Given the description of an element on the screen output the (x, y) to click on. 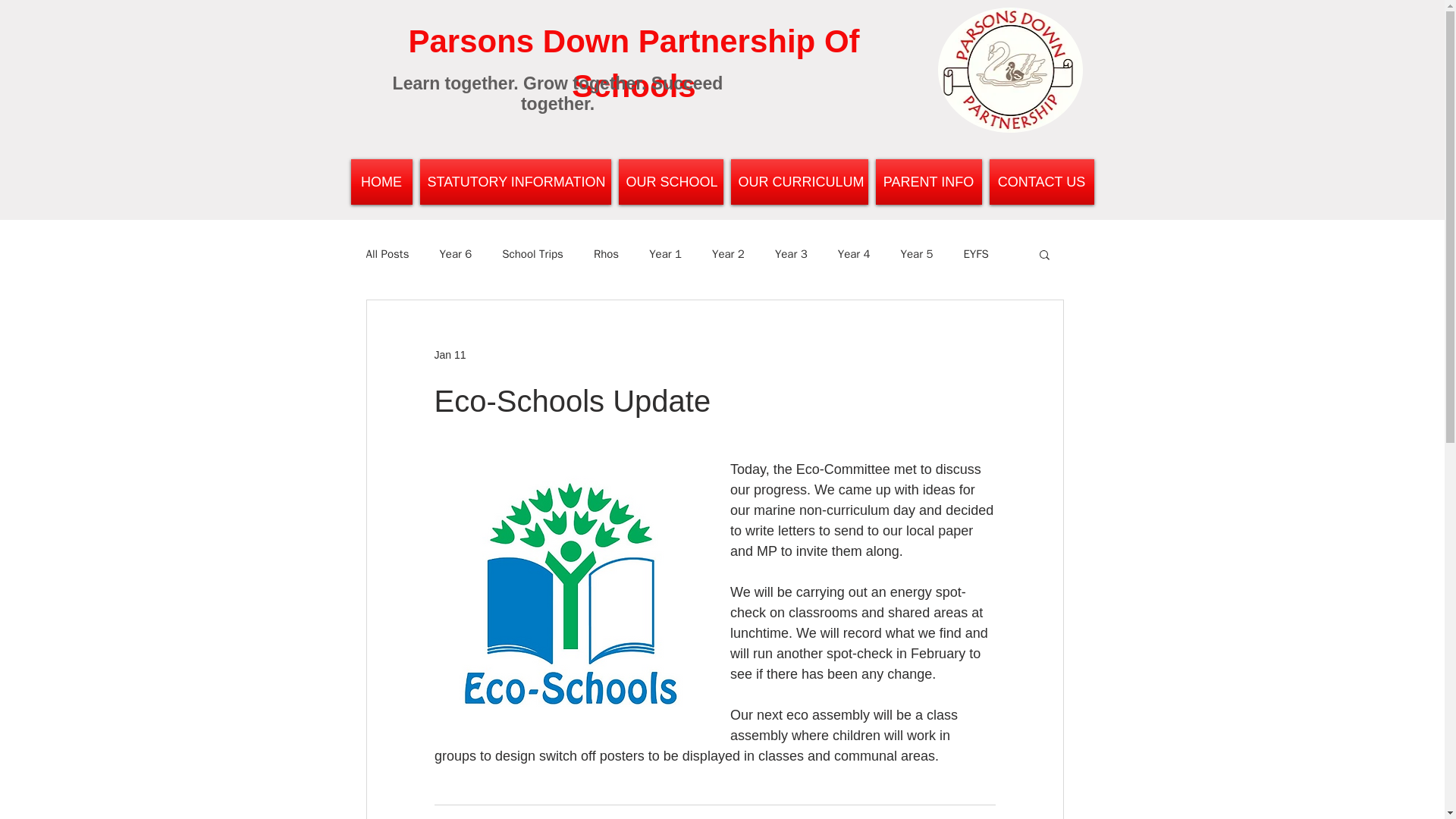
HOME (382, 181)
Parsons Down Partnership Of Schools (633, 63)
Jan 11 (449, 354)
